Given the description of an element on the screen output the (x, y) to click on. 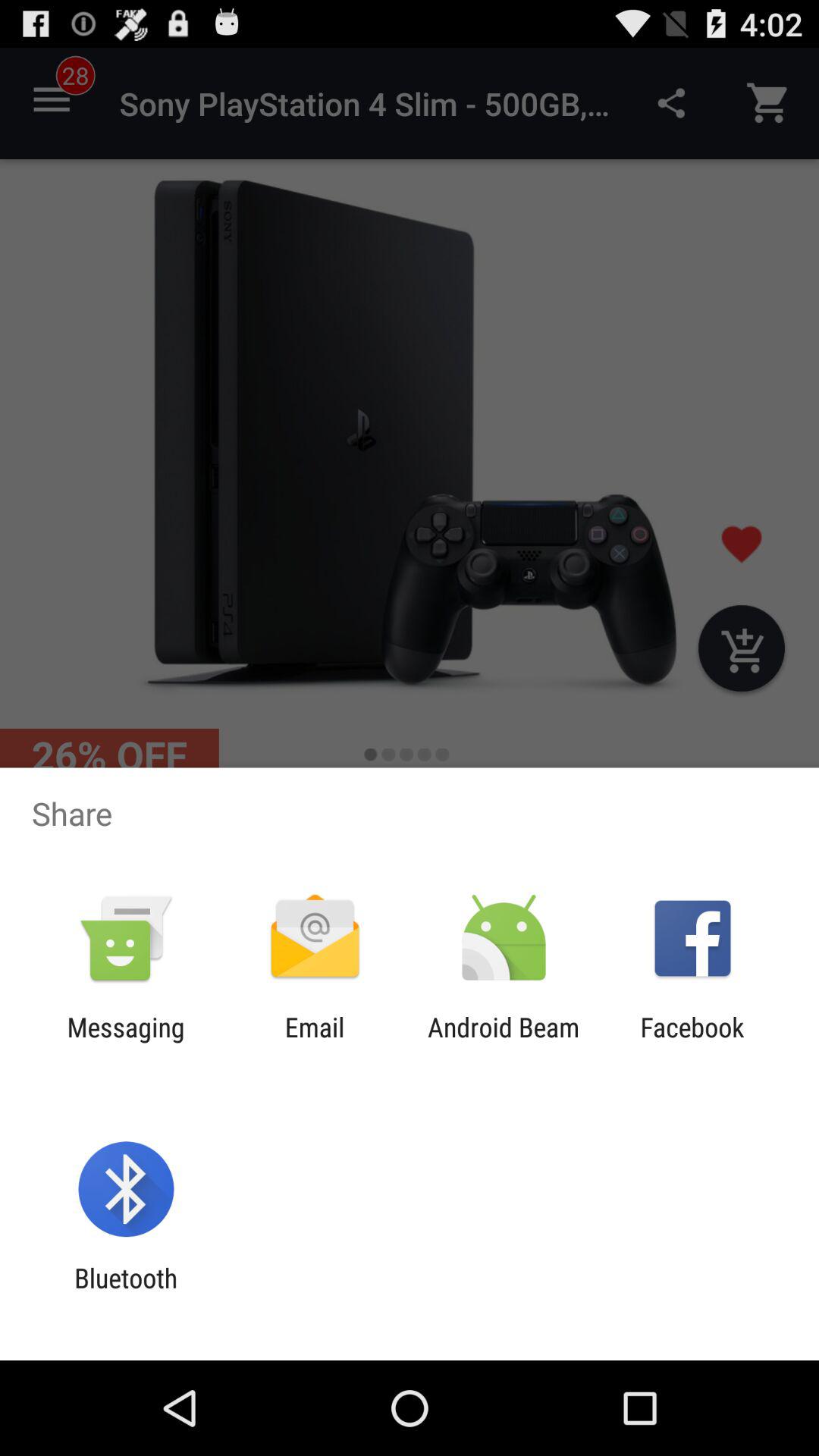
choose facebook (692, 1042)
